Given the description of an element on the screen output the (x, y) to click on. 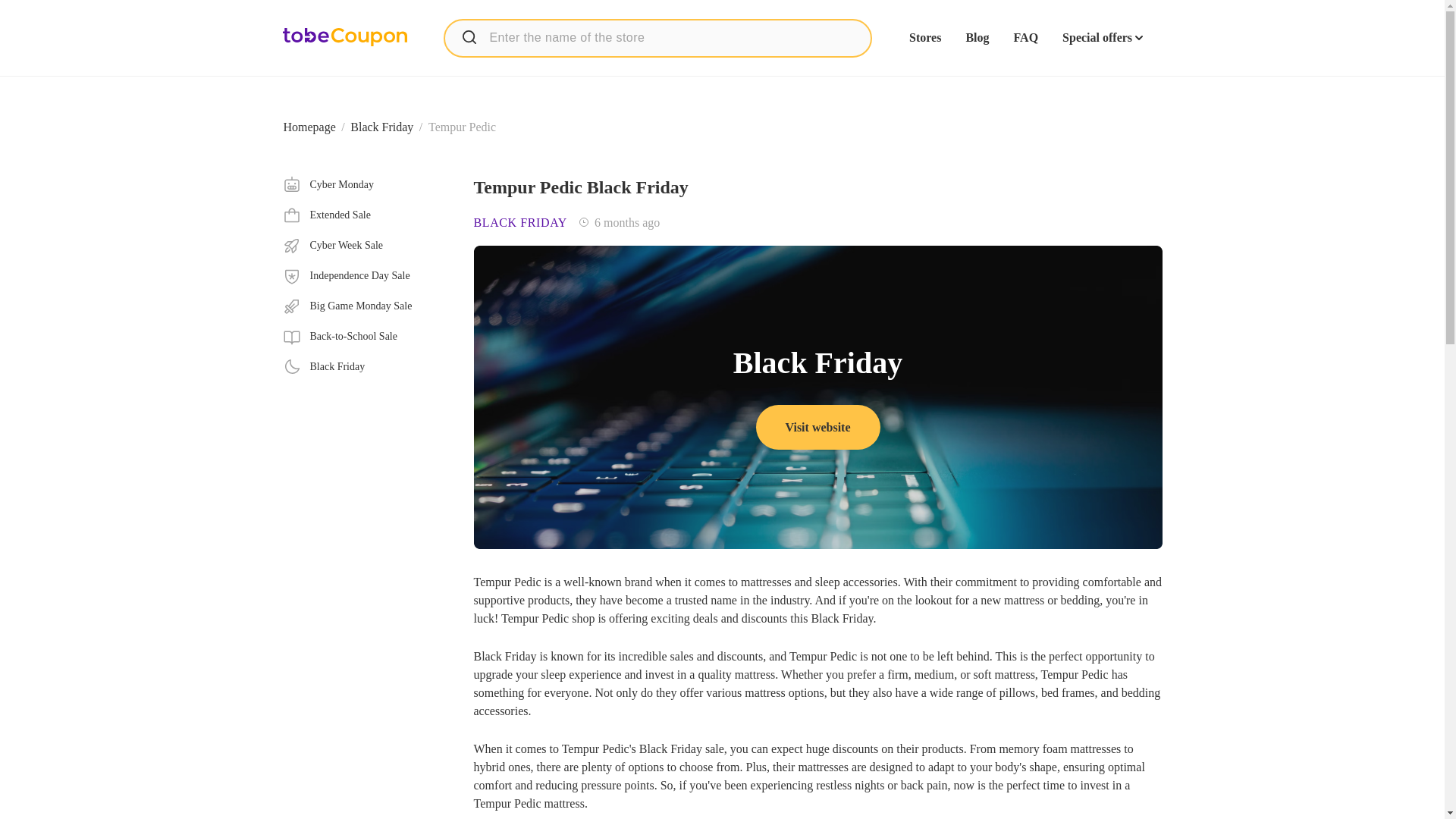
Independence Day Sale (365, 275)
Stores (924, 37)
Black Friday (381, 126)
Extended Sale (365, 215)
BLACK FRIDAY (520, 222)
Visit website (817, 426)
Back-to-School Sale (365, 336)
Cyber Week Sale (365, 245)
Black Friday (365, 366)
FAQ (1025, 37)
Big Game Monday Sale (365, 306)
Cyber Monday (365, 185)
Search (469, 37)
Homepage (309, 126)
Blog (976, 37)
